Given the description of an element on the screen output the (x, y) to click on. 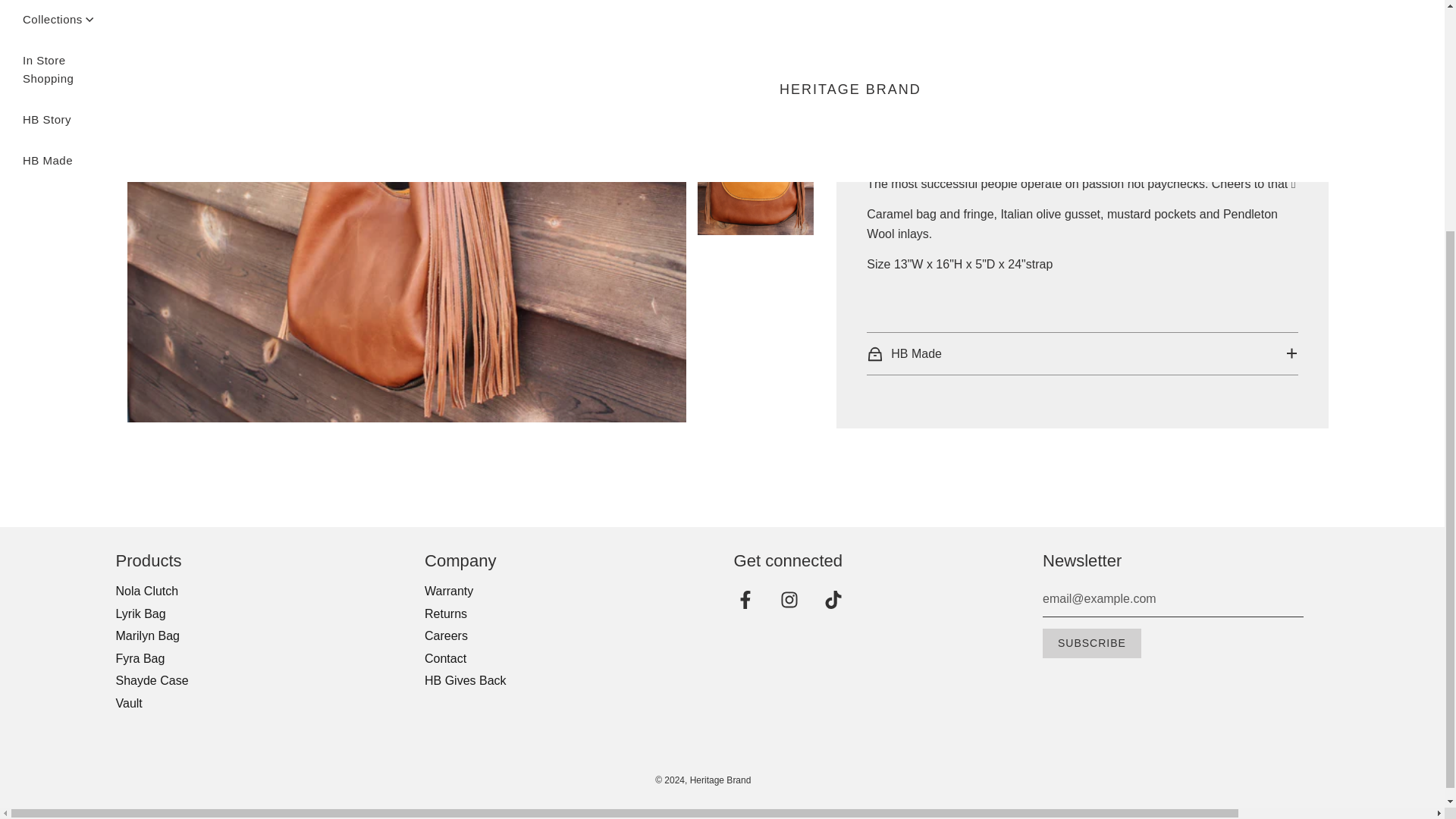
Nola Clutch (146, 590)
Subscribe (1091, 643)
Marilyn Bag (147, 635)
Fyra Bag (139, 658)
Lyrik Bag (140, 613)
